Given the description of an element on the screen output the (x, y) to click on. 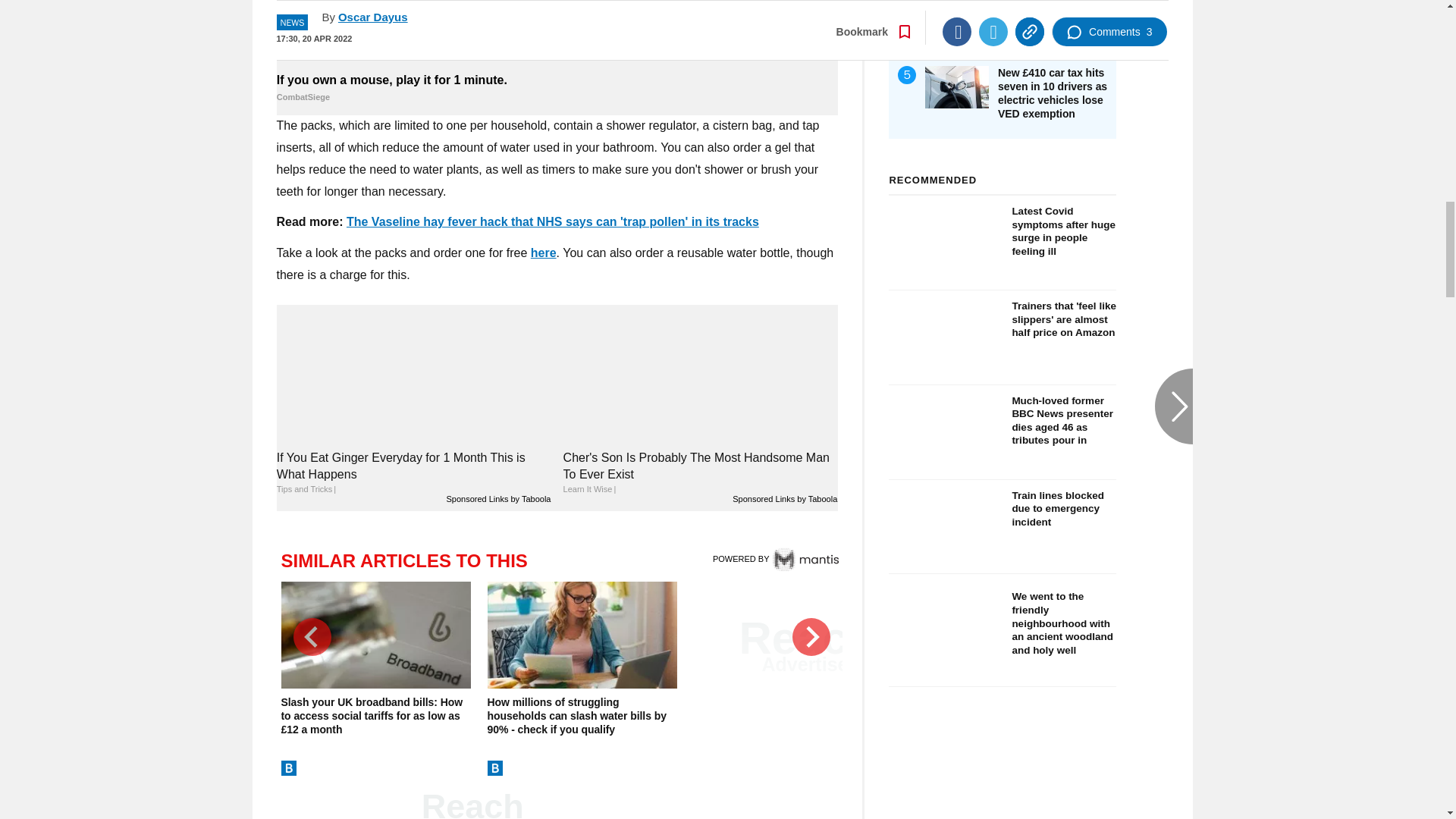
If you own a mouse, play it for 1 minute. (557, 34)
